Given the description of an element on the screen output the (x, y) to click on. 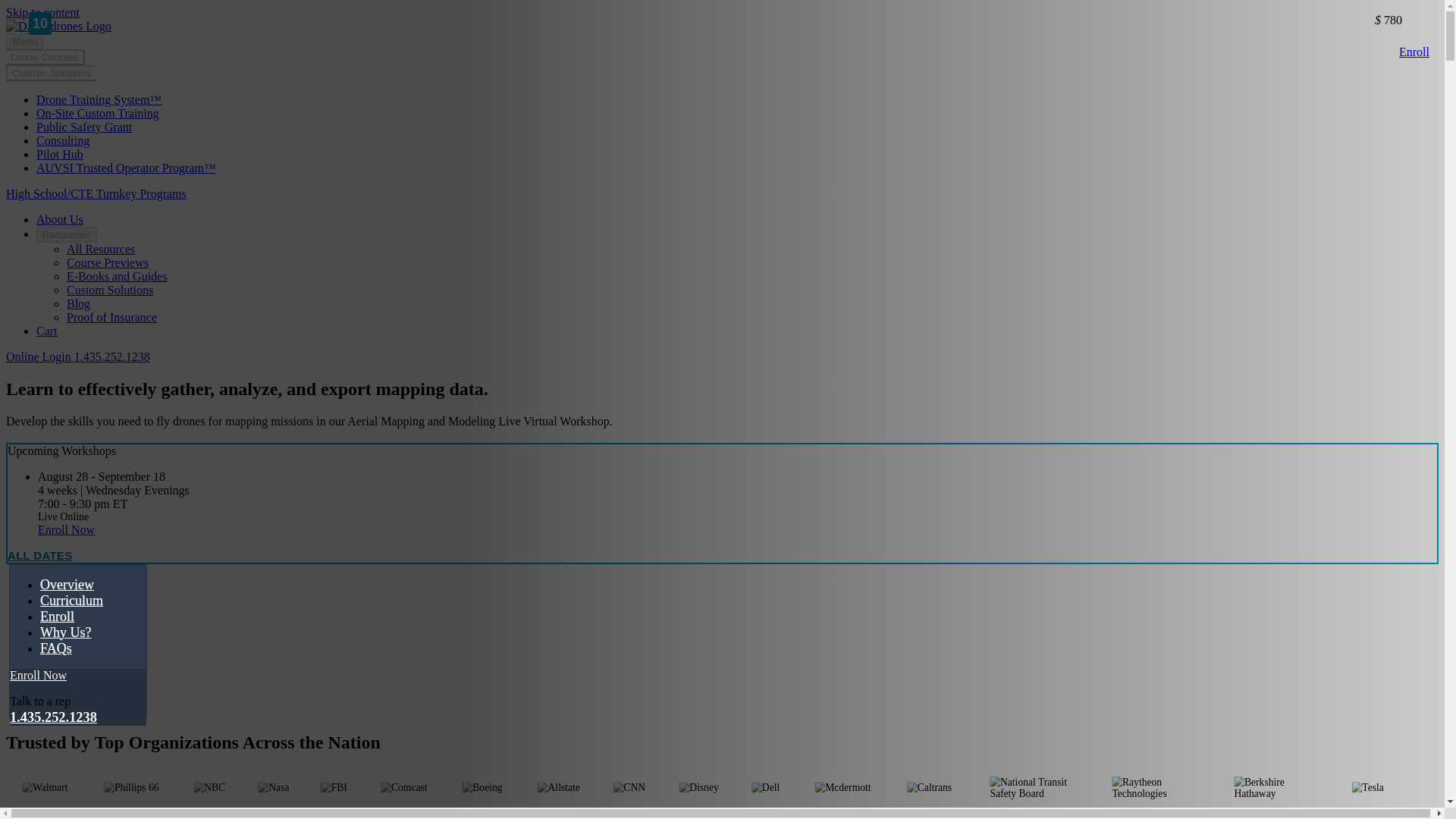
Pilot Hub (59, 154)
Custom Solutions (50, 73)
Public Safety Grant (84, 126)
Consulting (62, 140)
Course Previews (107, 262)
Skip to content (42, 11)
Drone Courses (44, 57)
About Us (59, 219)
E-Books and Guides (116, 276)
All Resources (100, 248)
Resources (66, 234)
On-Site Custom Training (97, 113)
Menu (24, 41)
